Given the description of an element on the screen output the (x, y) to click on. 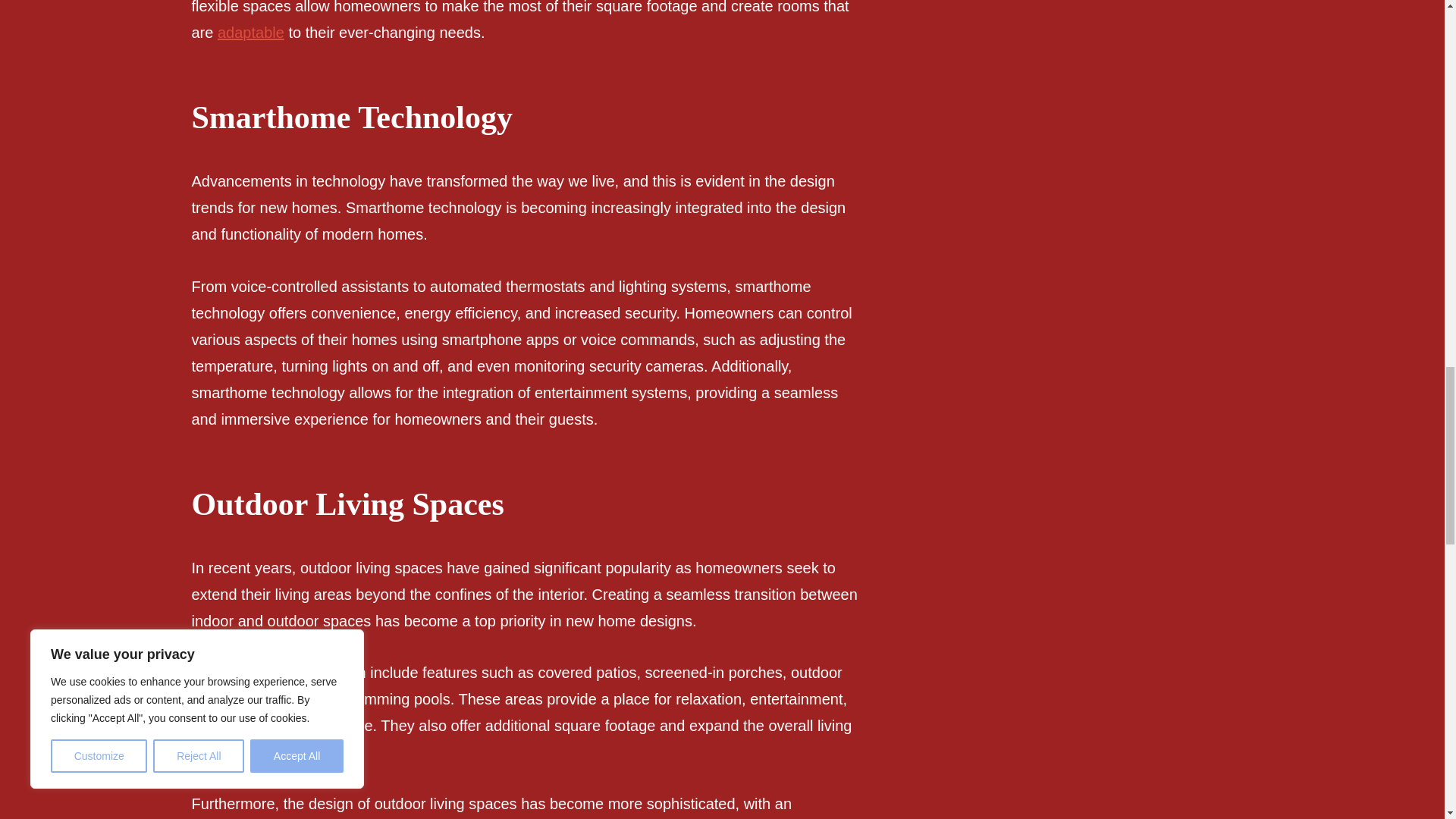
adaptable (249, 32)
